Given the description of an element on the screen output the (x, y) to click on. 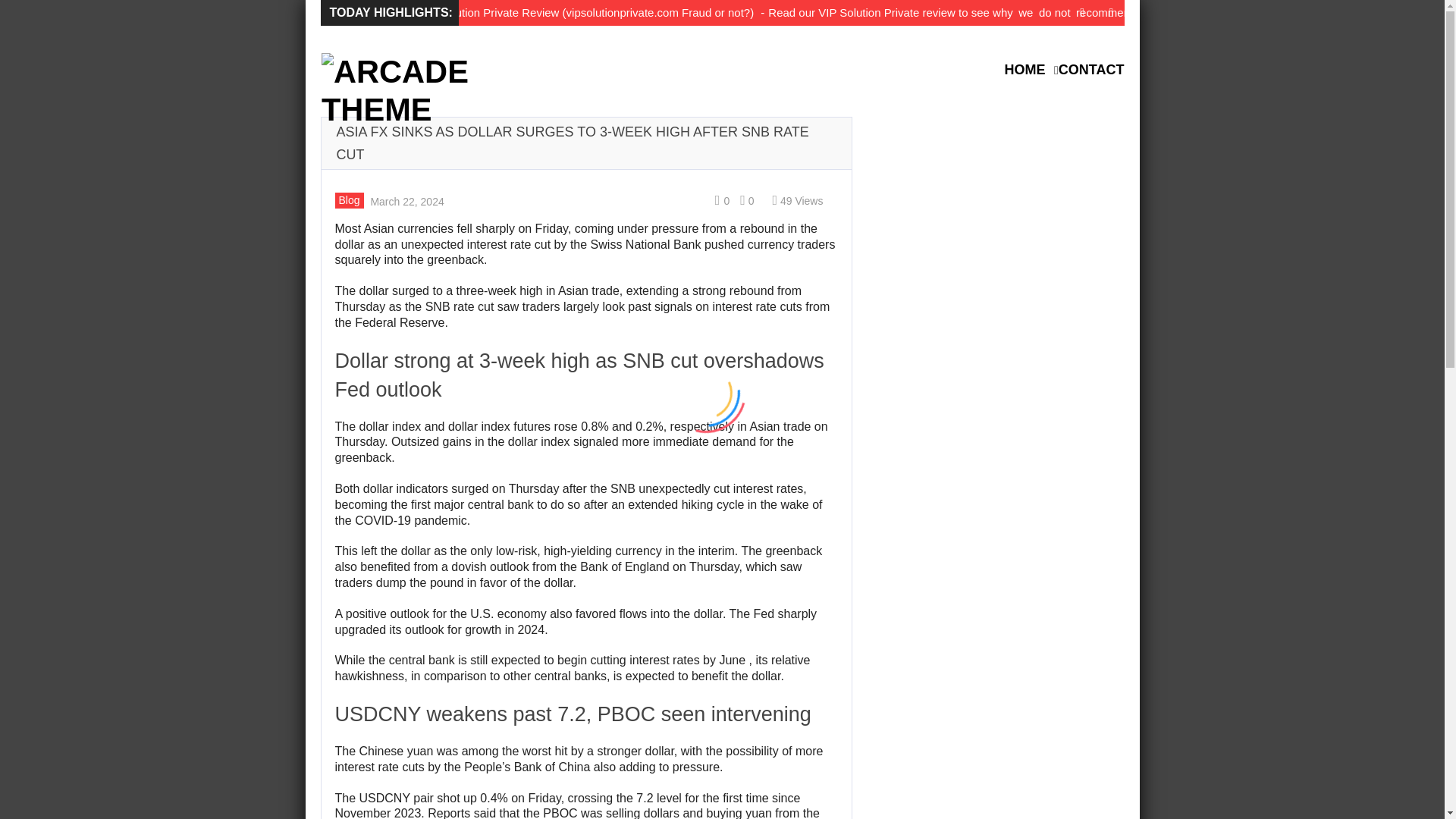
Recommend this (718, 200)
March 22, 2024 (405, 200)
HOME (1027, 69)
0 (718, 200)
Arcade Theme (416, 90)
0 (746, 200)
10:11 am (405, 200)
Blog (349, 200)
CONTACT (1091, 69)
